Given the description of an element on the screen output the (x, y) to click on. 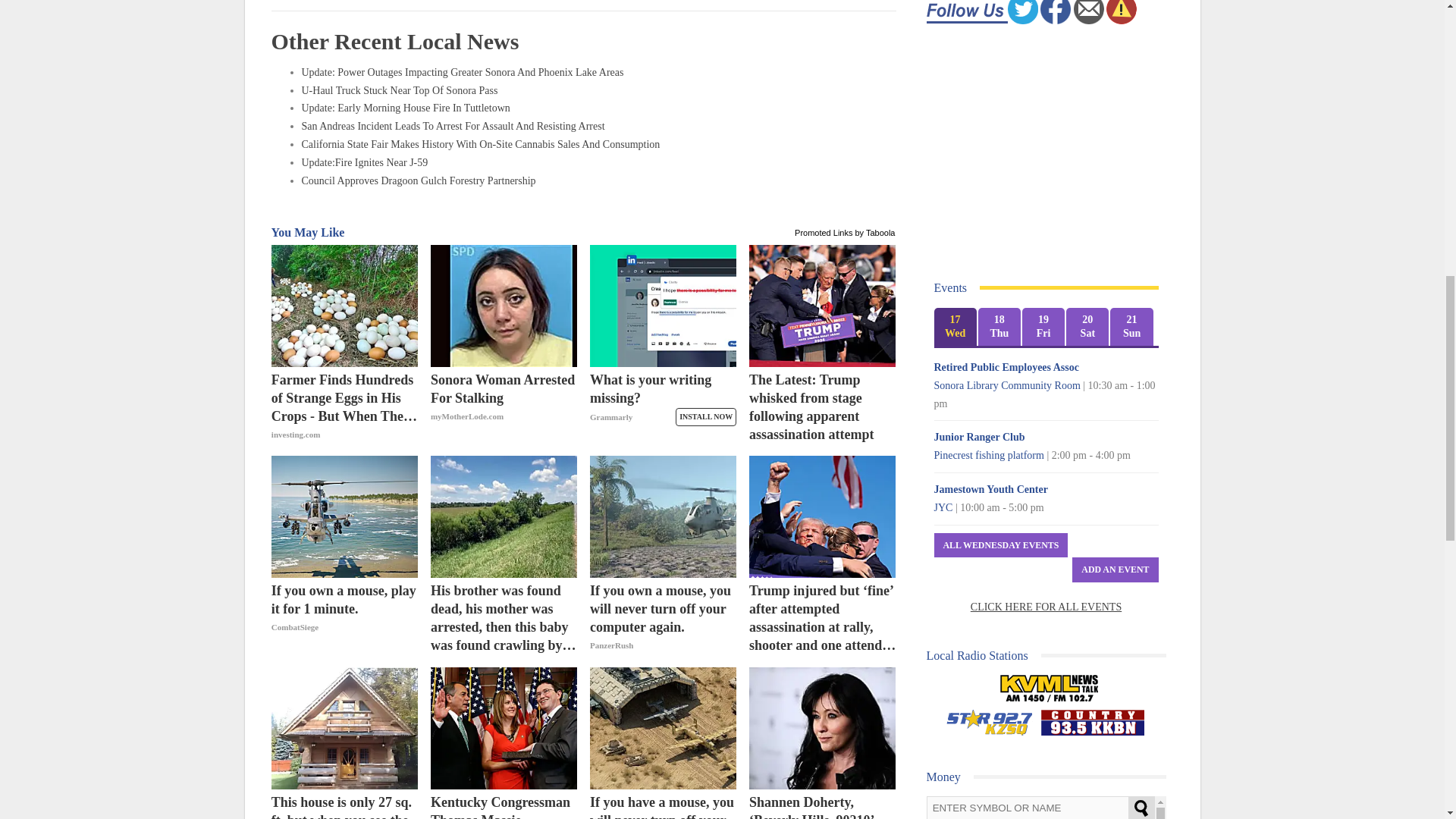
Add An Event (1114, 569)
All Wednesday Events (1001, 545)
What is your writing missing? (662, 407)
What is your writing missing? (662, 305)
Sonora Woman Arrested For Stalking (503, 305)
Sonora Woman Arrested For Stalking (503, 407)
